Given the description of an element on the screen output the (x, y) to click on. 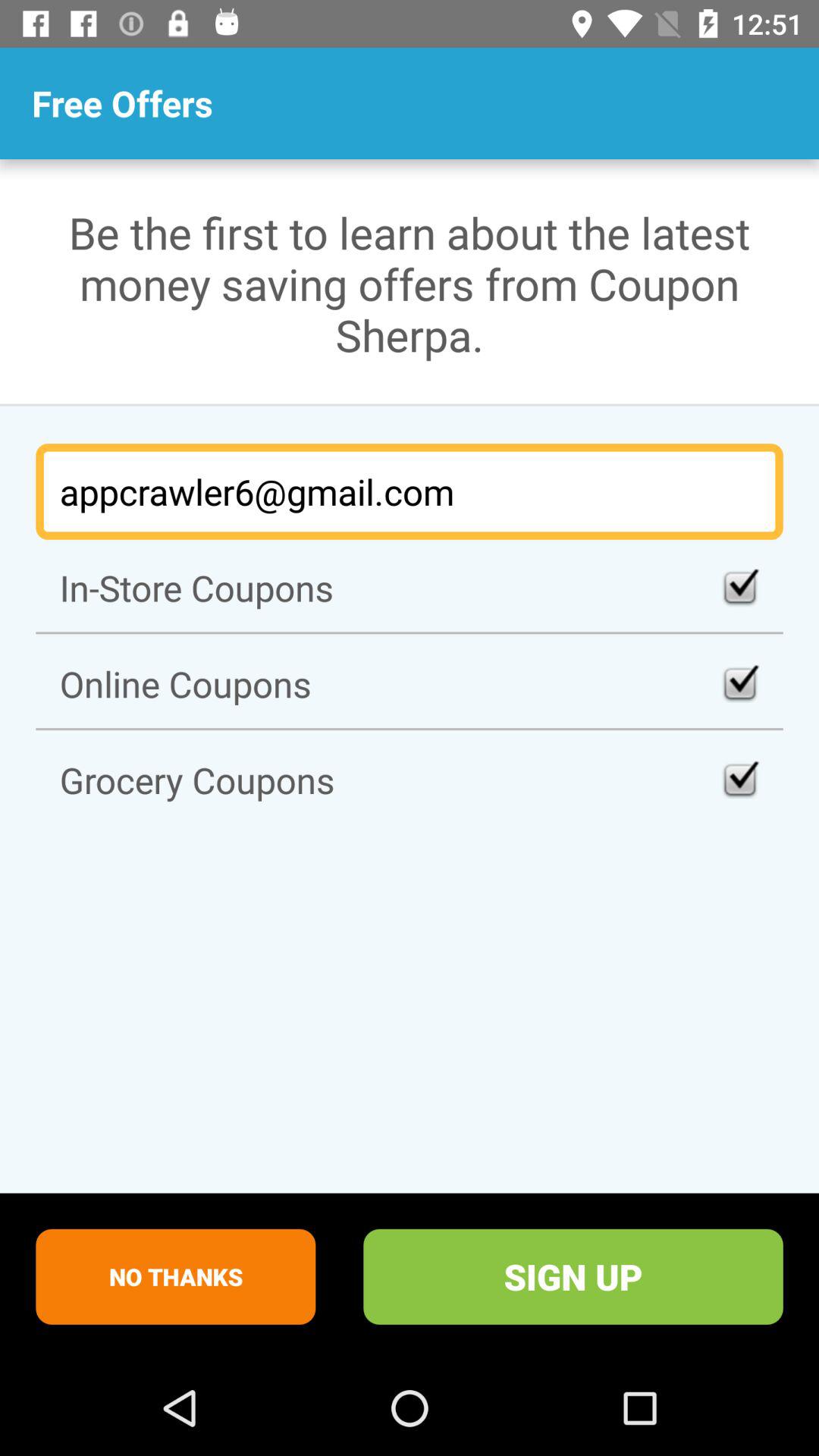
turn off sign up item (573, 1276)
